Given the description of an element on the screen output the (x, y) to click on. 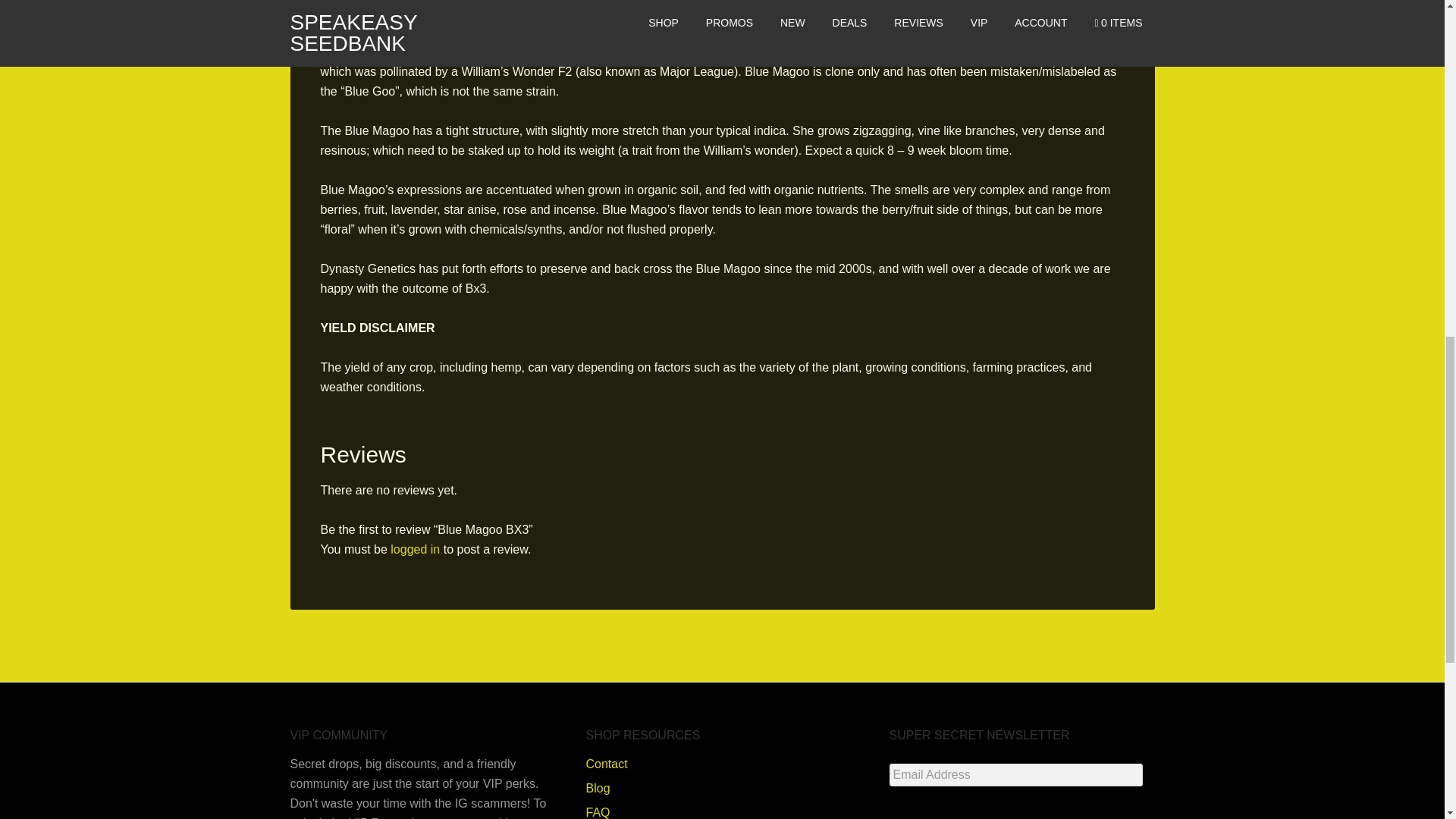
Blog (597, 788)
FAQ (597, 812)
logged in (414, 549)
Contact (606, 763)
